Given the description of an element on the screen output the (x, y) to click on. 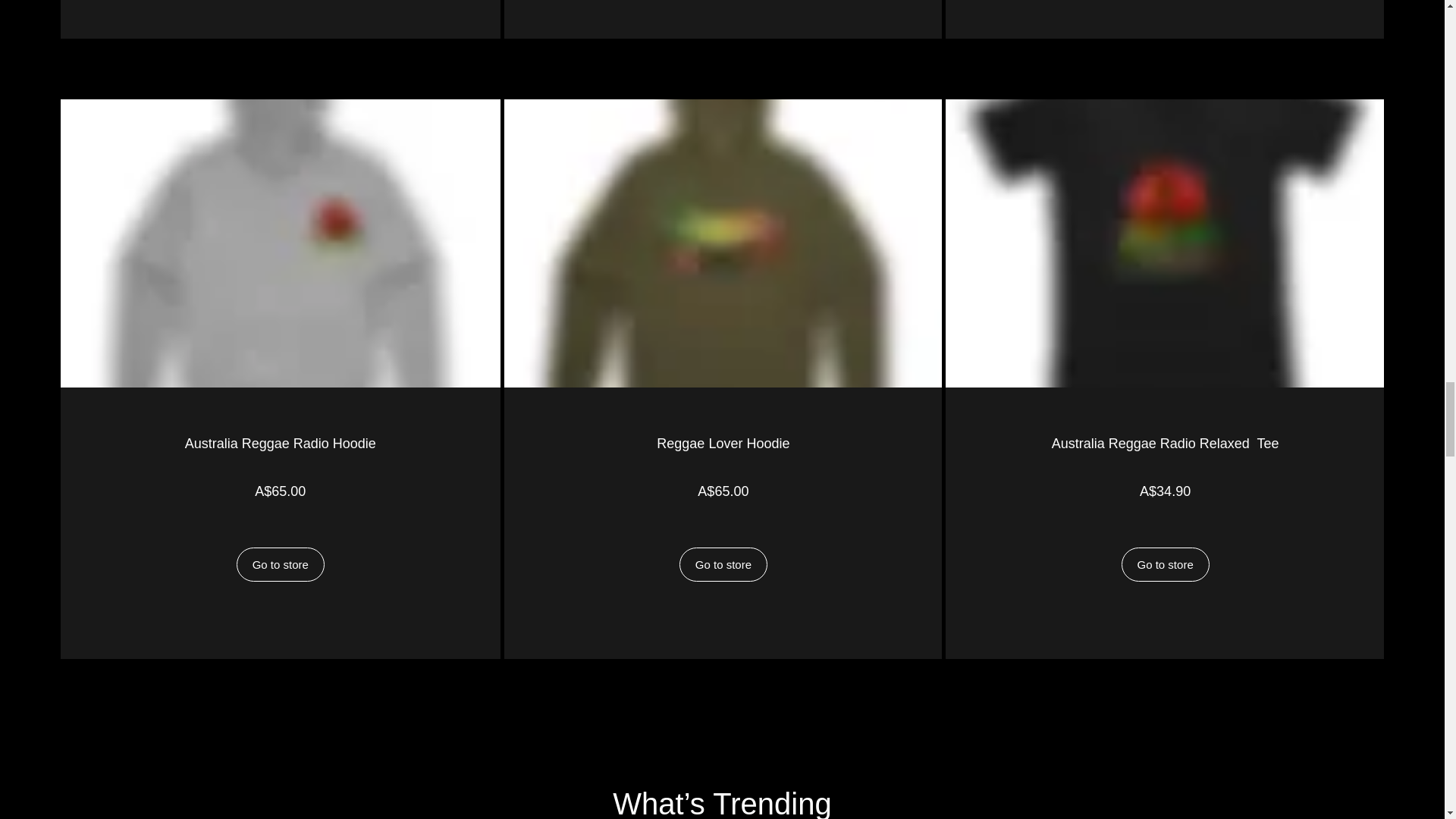
Go to store (279, 564)
Go to store (1165, 564)
Go to store (723, 564)
